Given the description of an element on the screen output the (x, y) to click on. 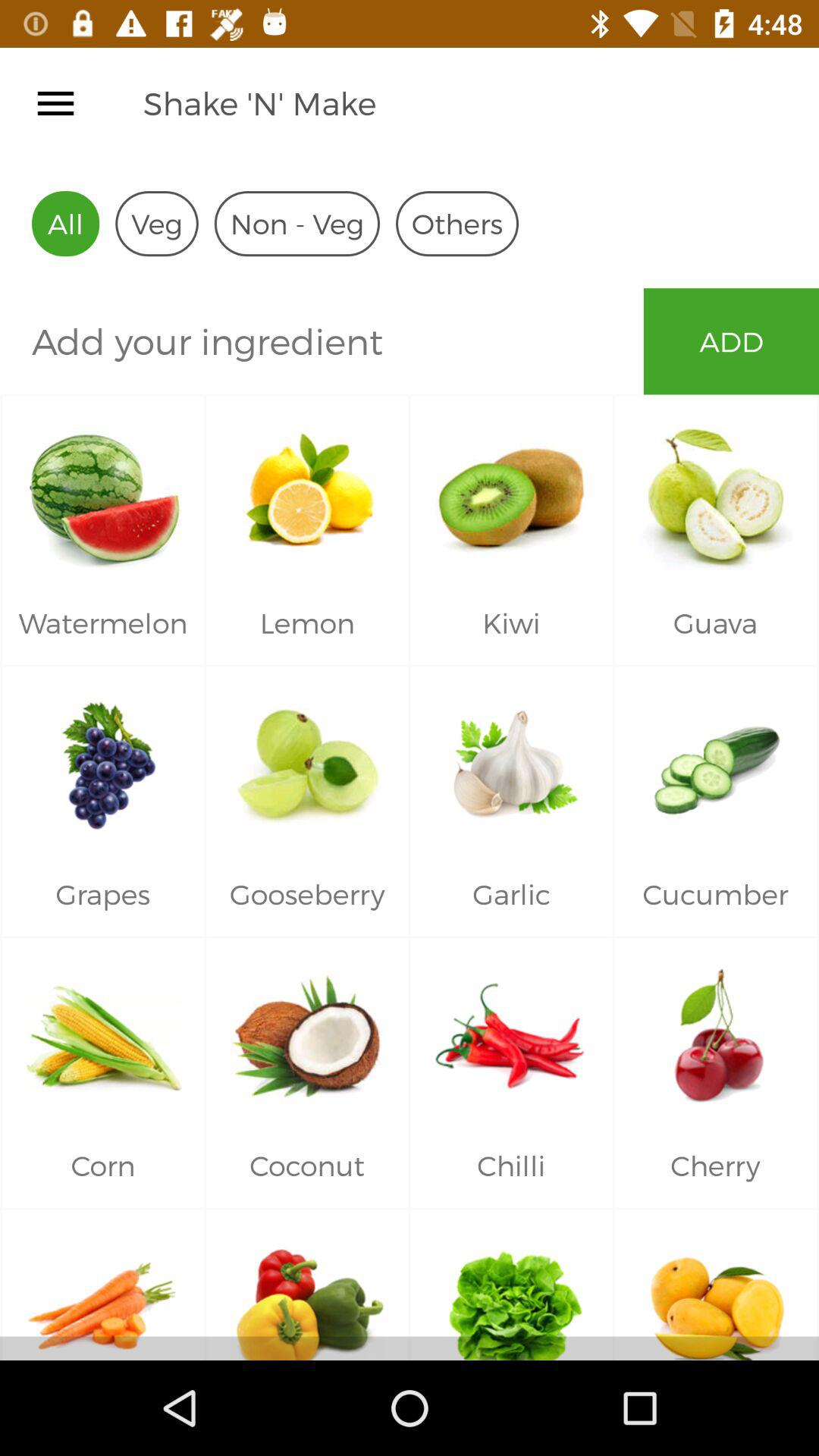
click the icon to the left of veg icon (65, 223)
